Given the description of an element on the screen output the (x, y) to click on. 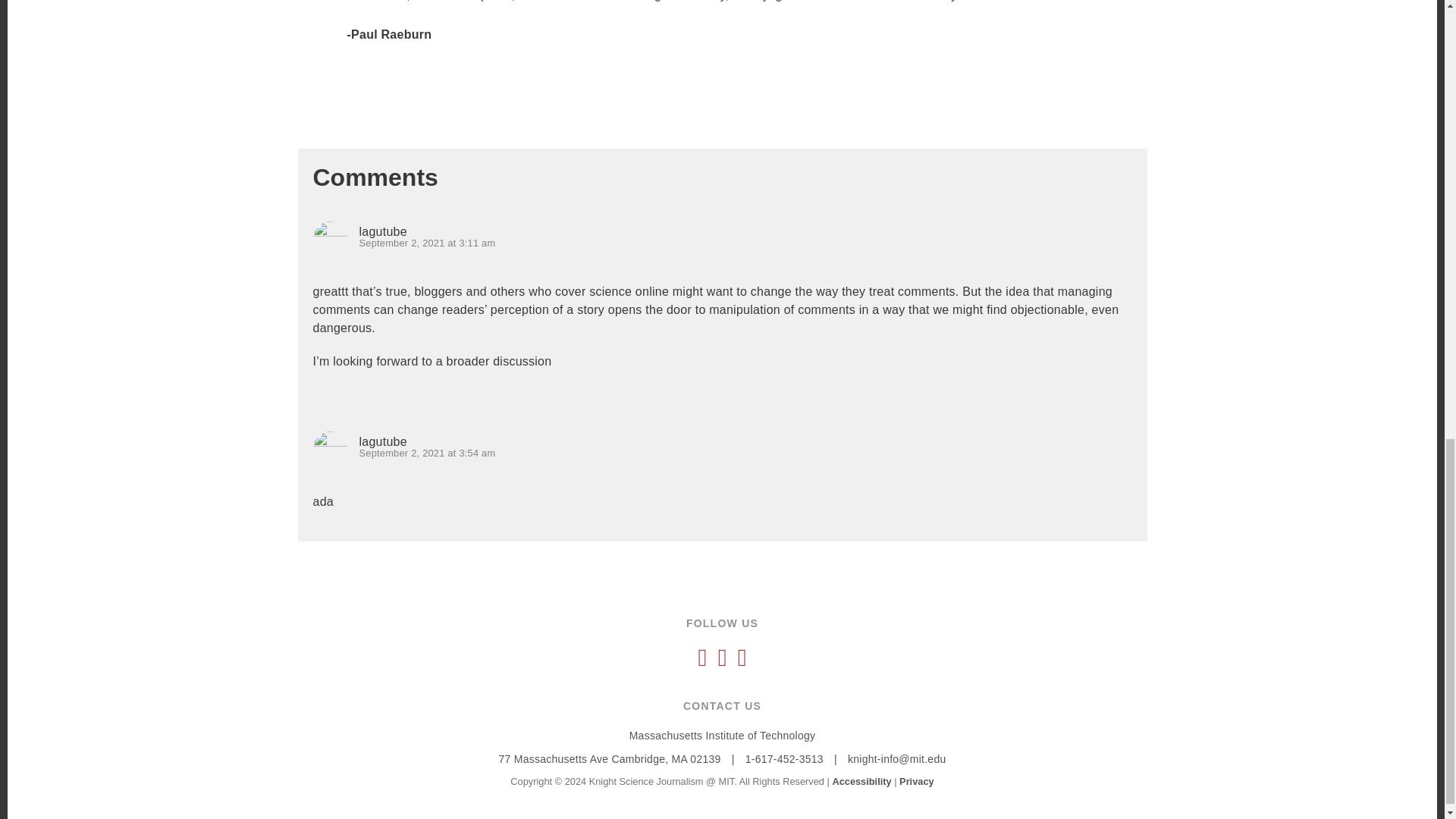
September 2, 2021 at 3:11 am (427, 242)
September 2, 2021 at 3:54 am (427, 452)
Accessibility (861, 781)
Privacy (916, 781)
